Given the description of an element on the screen output the (x, y) to click on. 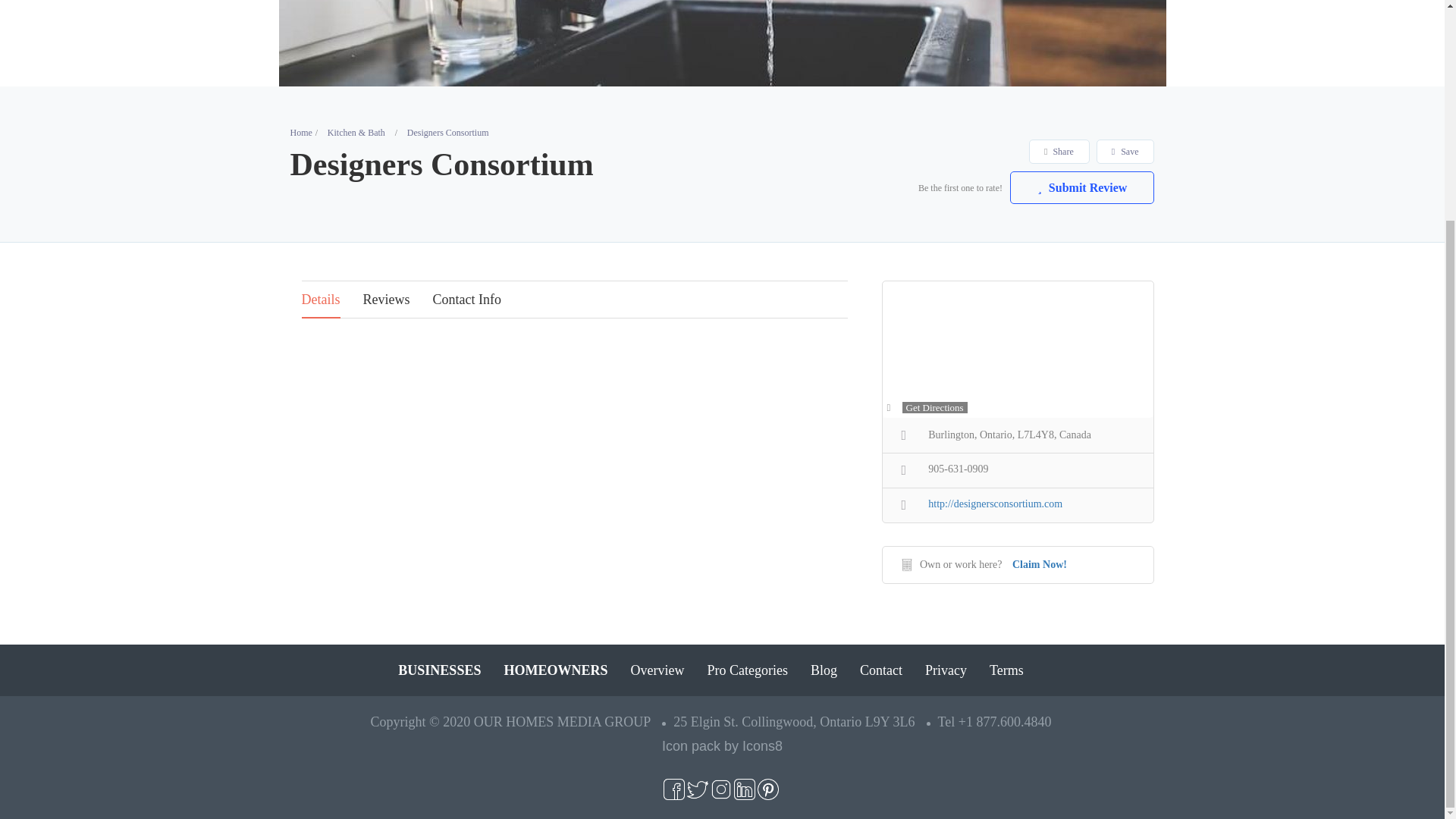
Share (1058, 151)
Save (1125, 151)
Home (300, 132)
Submit (413, 206)
